Given the description of an element on the screen output the (x, y) to click on. 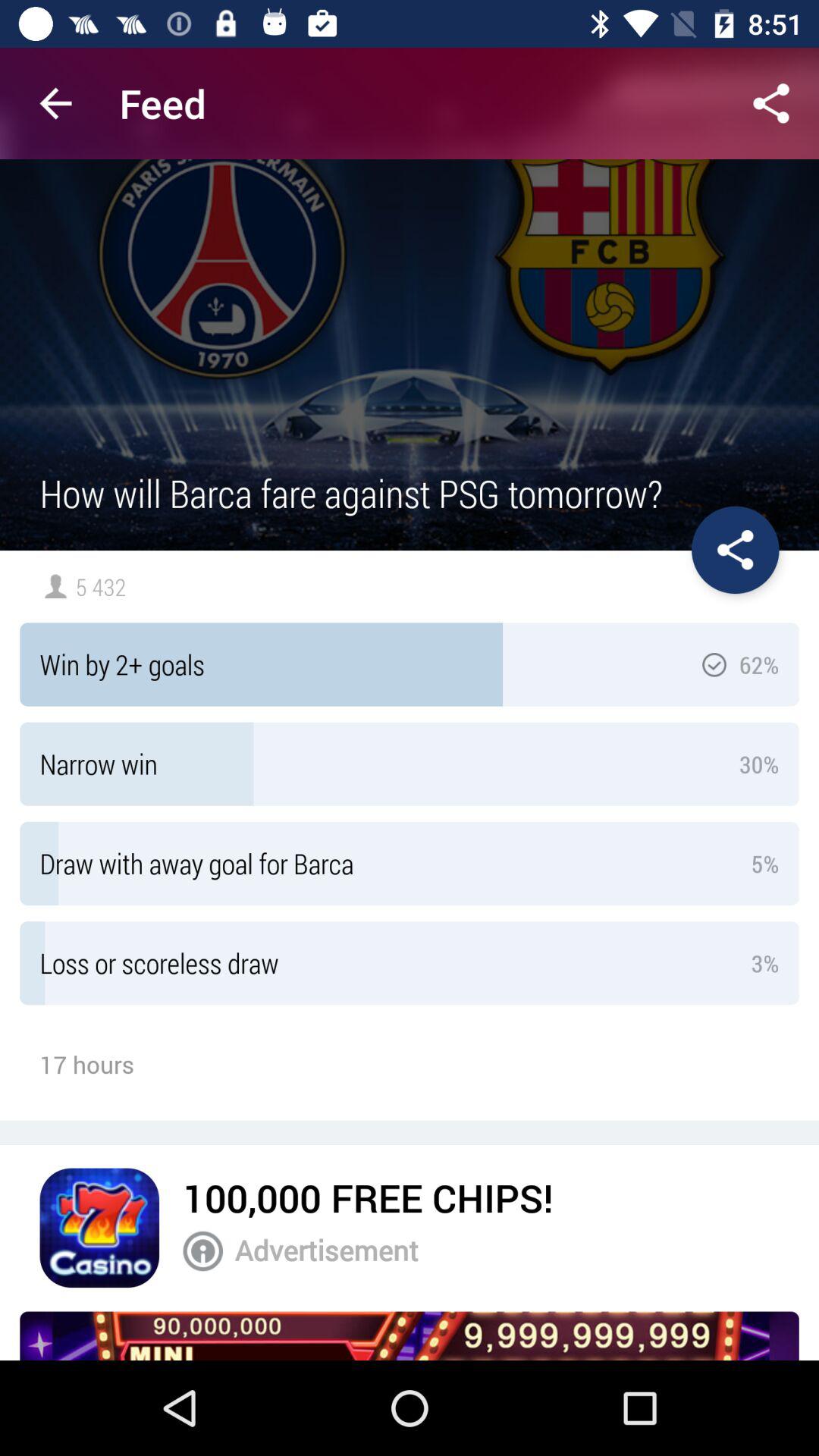
go to advertisement (409, 1335)
